Given the description of an element on the screen output the (x, y) to click on. 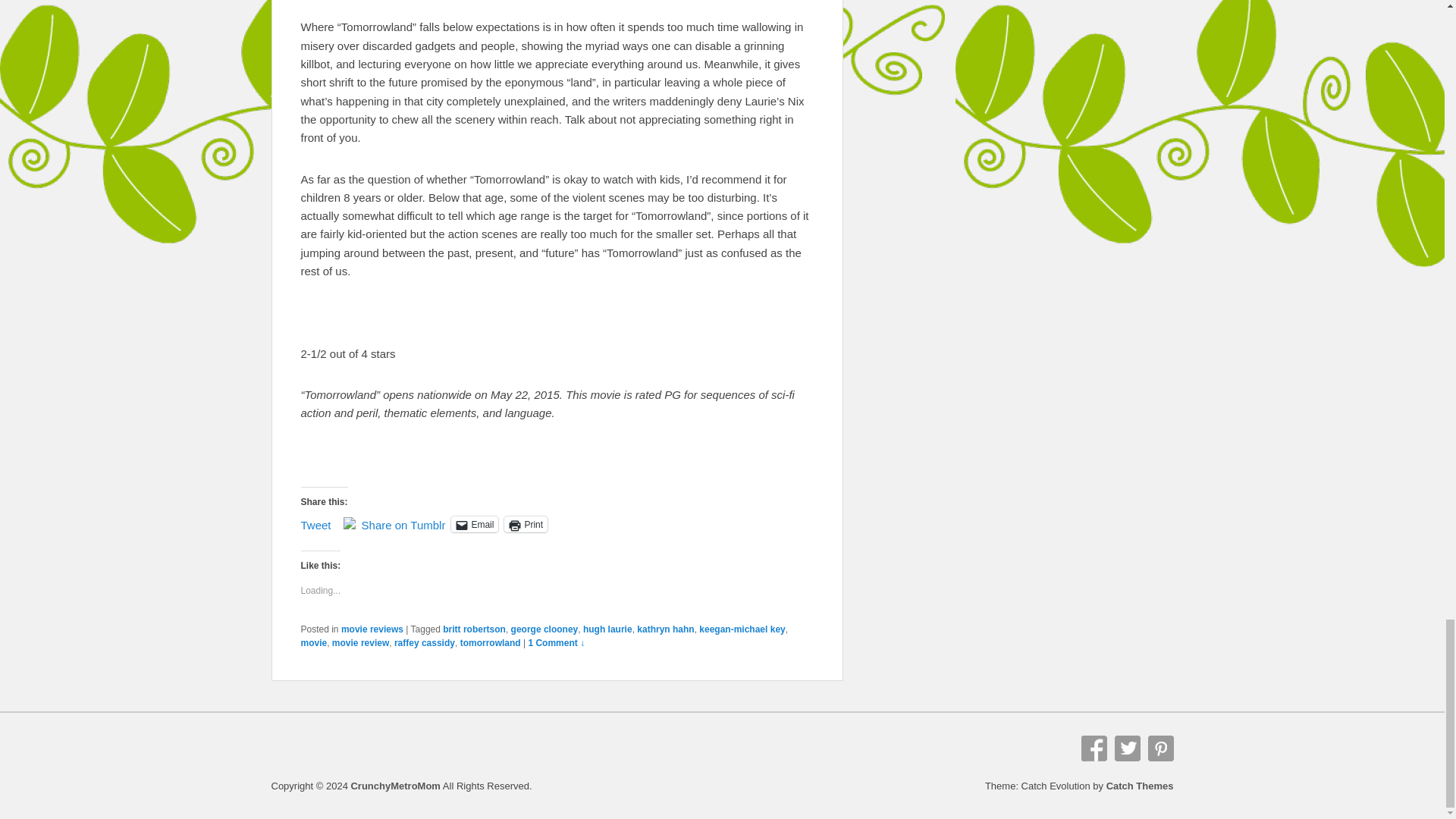
movie (312, 643)
raffey cassidy (424, 643)
Click to email a link to a friend (474, 524)
Email (474, 524)
Share on Tumblr (403, 522)
britt robertson (473, 629)
george clooney (544, 629)
Share on Tumblr (403, 522)
tomorrowland (490, 643)
keegan-michael key (741, 629)
